Given the description of an element on the screen output the (x, y) to click on. 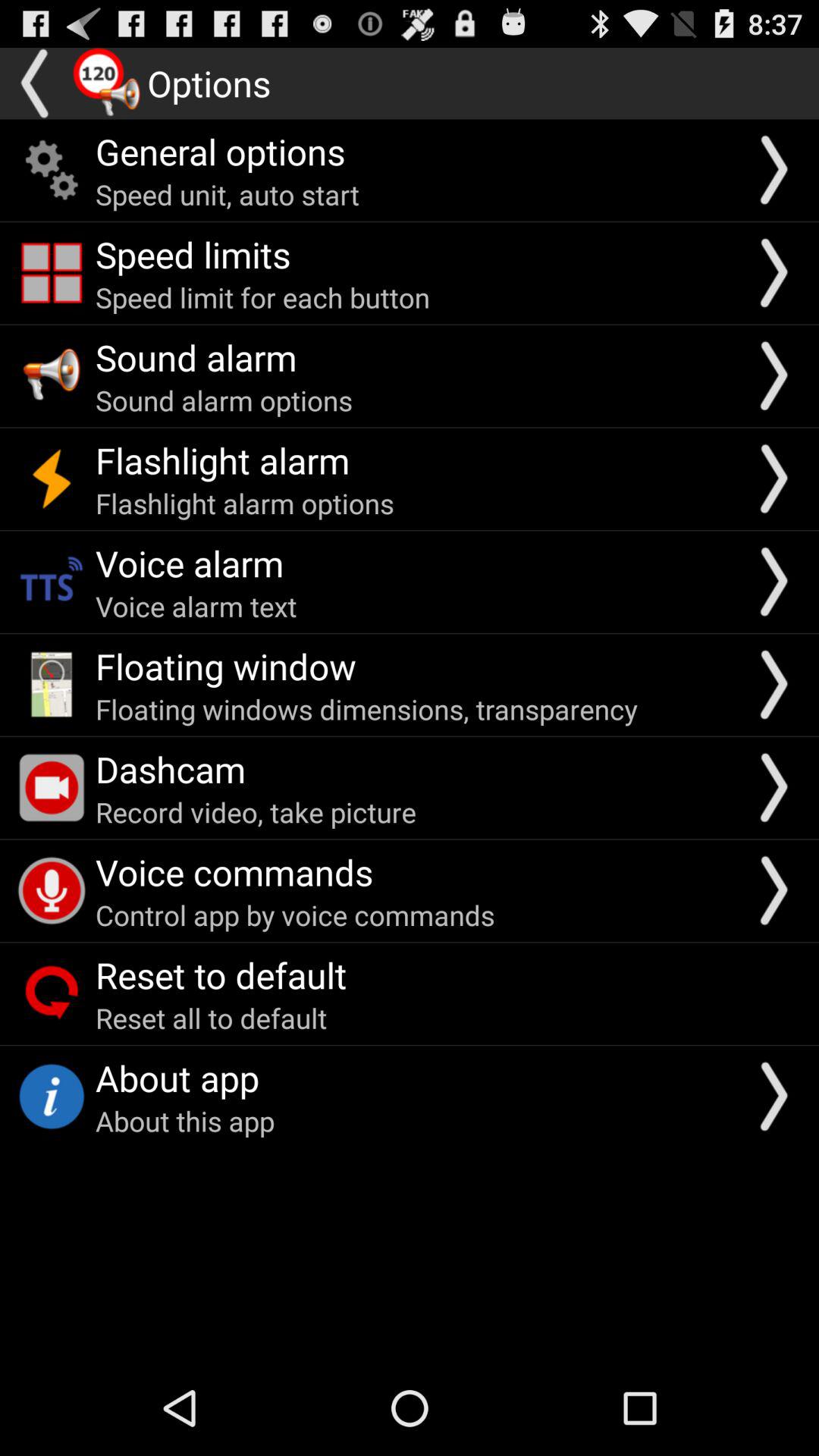
go back to the previous page (35, 83)
